Given the description of an element on the screen output the (x, y) to click on. 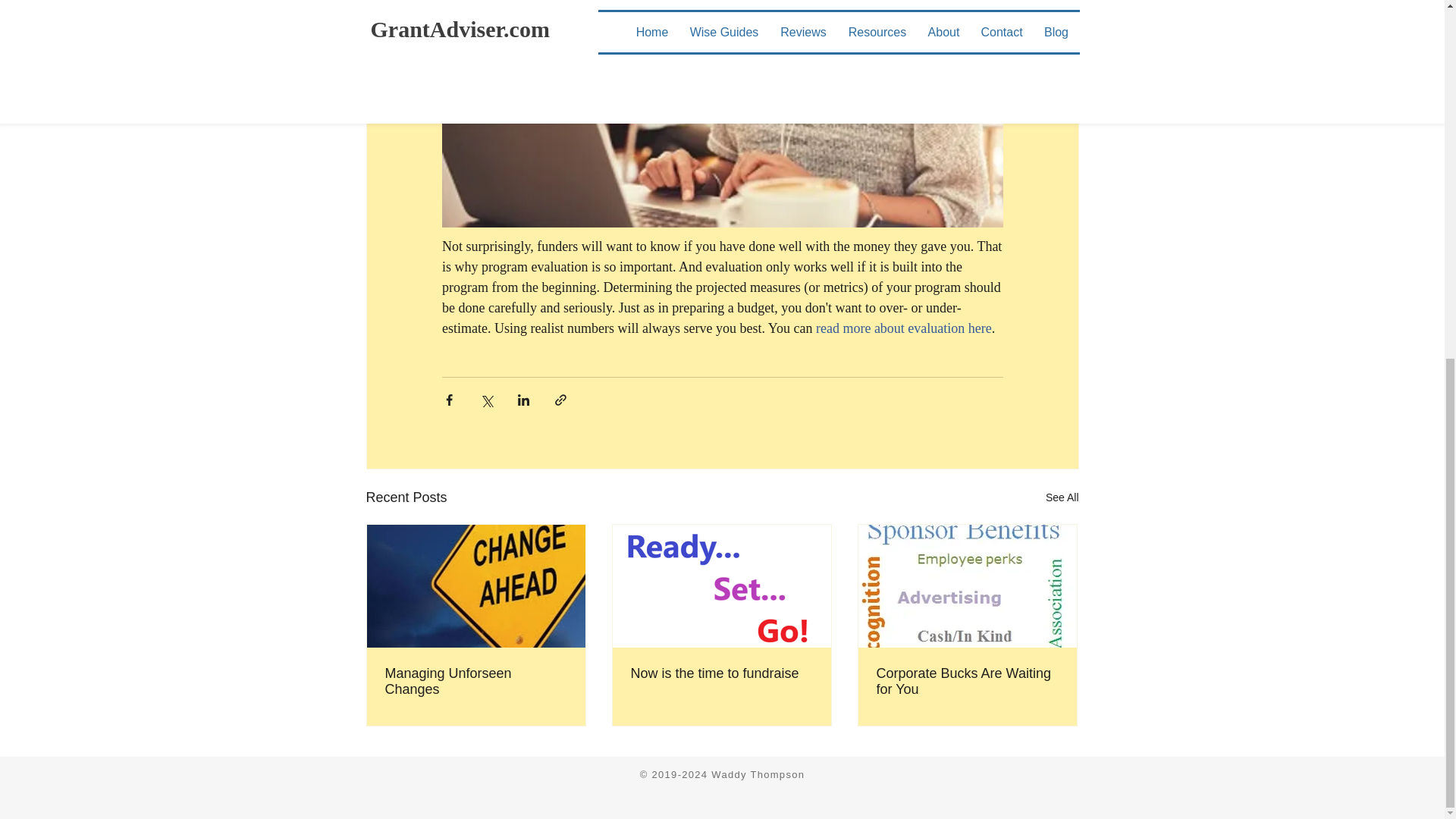
Managing Unforseen Changes (476, 681)
Corporate Bucks Are Waiting for You (967, 681)
Now is the time to fundraise (721, 673)
read more about evaluation here (903, 328)
Facebook Like (972, 775)
See All (1061, 497)
